Given the description of an element on the screen output the (x, y) to click on. 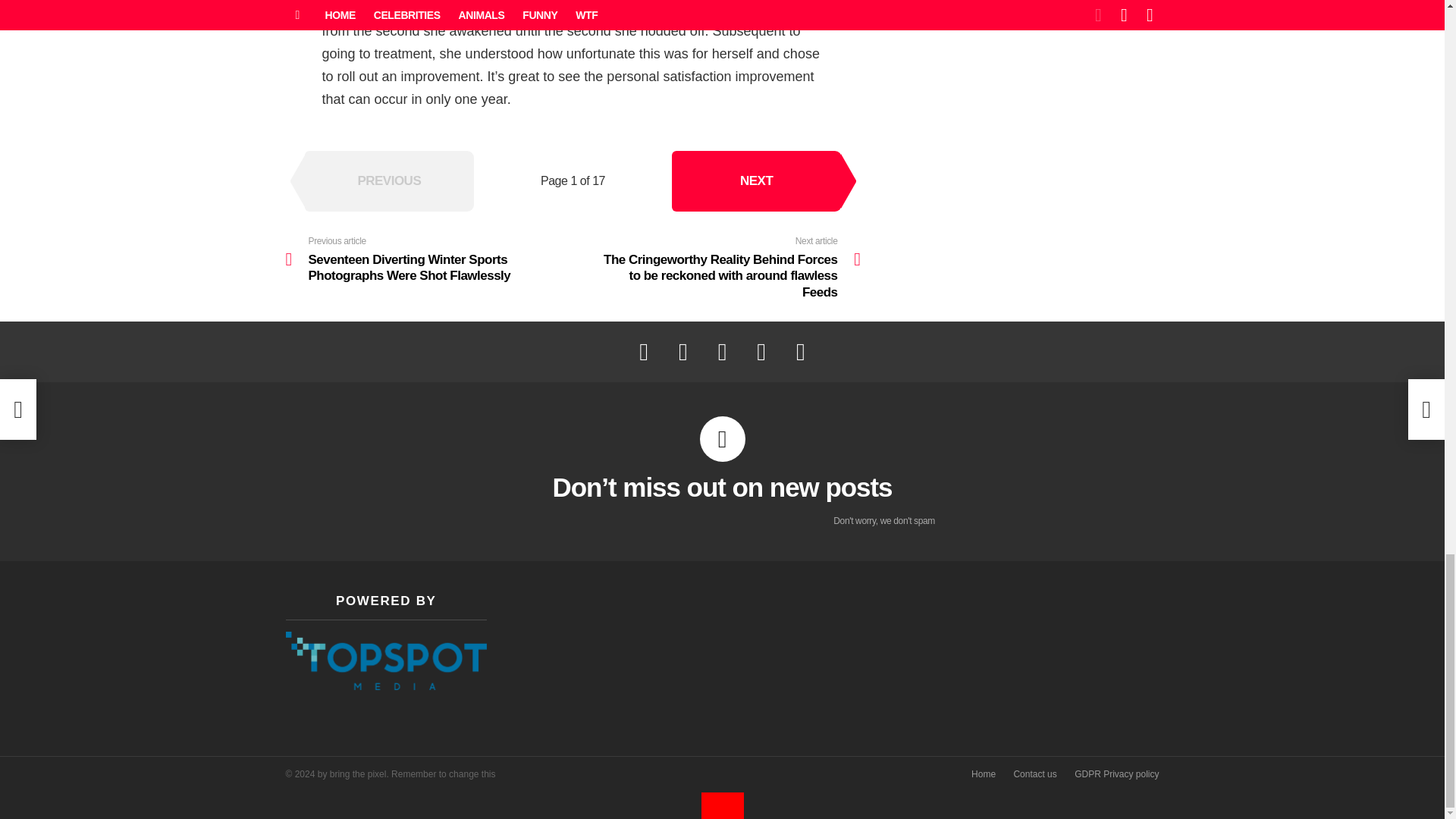
NEXT (756, 180)
